Given the description of an element on the screen output the (x, y) to click on. 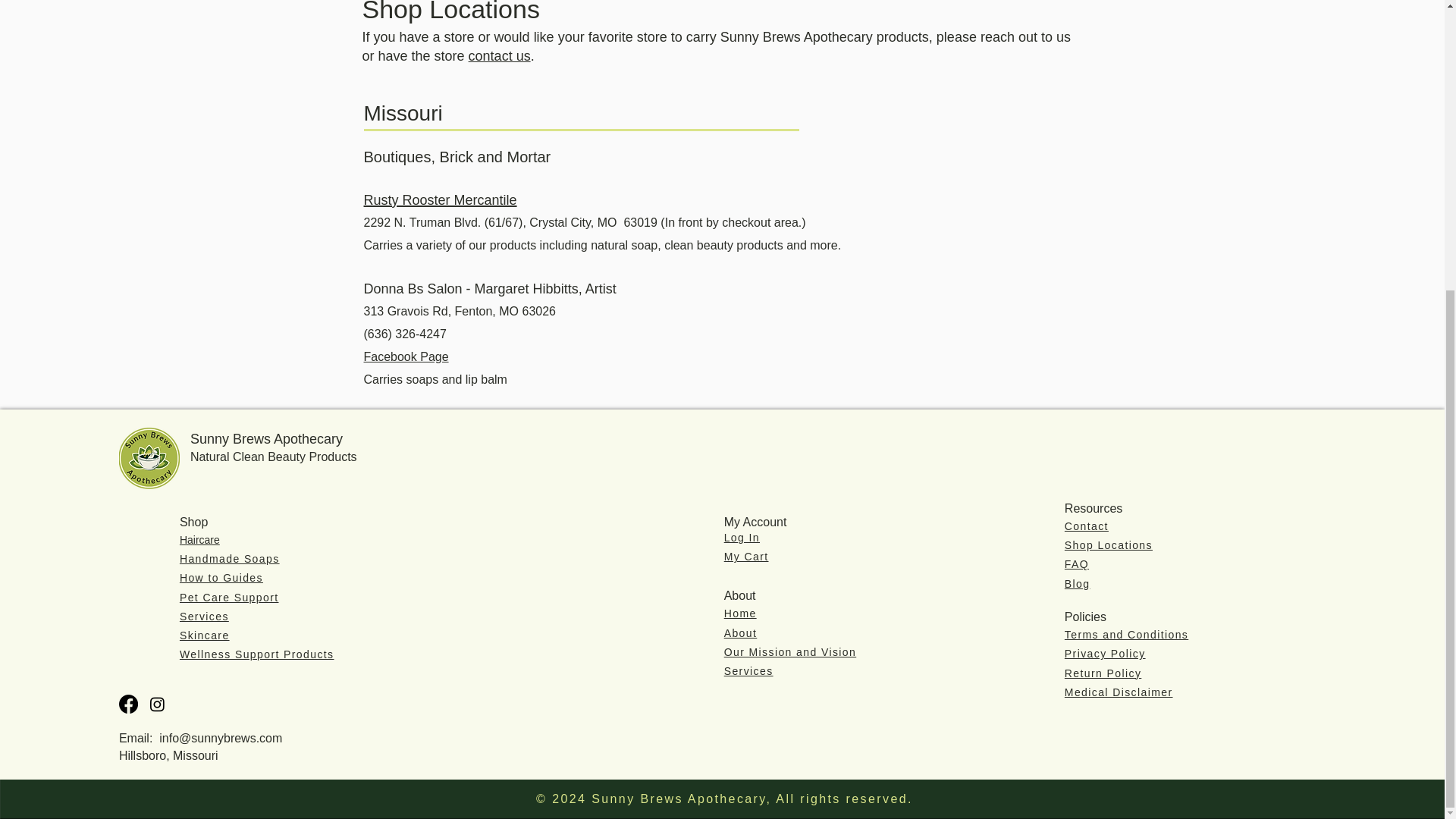
Handmade Soaps (229, 558)
Home (740, 613)
My Cart (745, 556)
Services (203, 616)
How to Guides (221, 577)
Wellness Support Products (256, 654)
Log In (741, 537)
Skincare (204, 635)
contact us (499, 55)
Haircare (199, 539)
Facebook Page (406, 356)
Rusty Rooster Mercantile (440, 199)
Pet Care Support (229, 597)
